Given the description of an element on the screen output the (x, y) to click on. 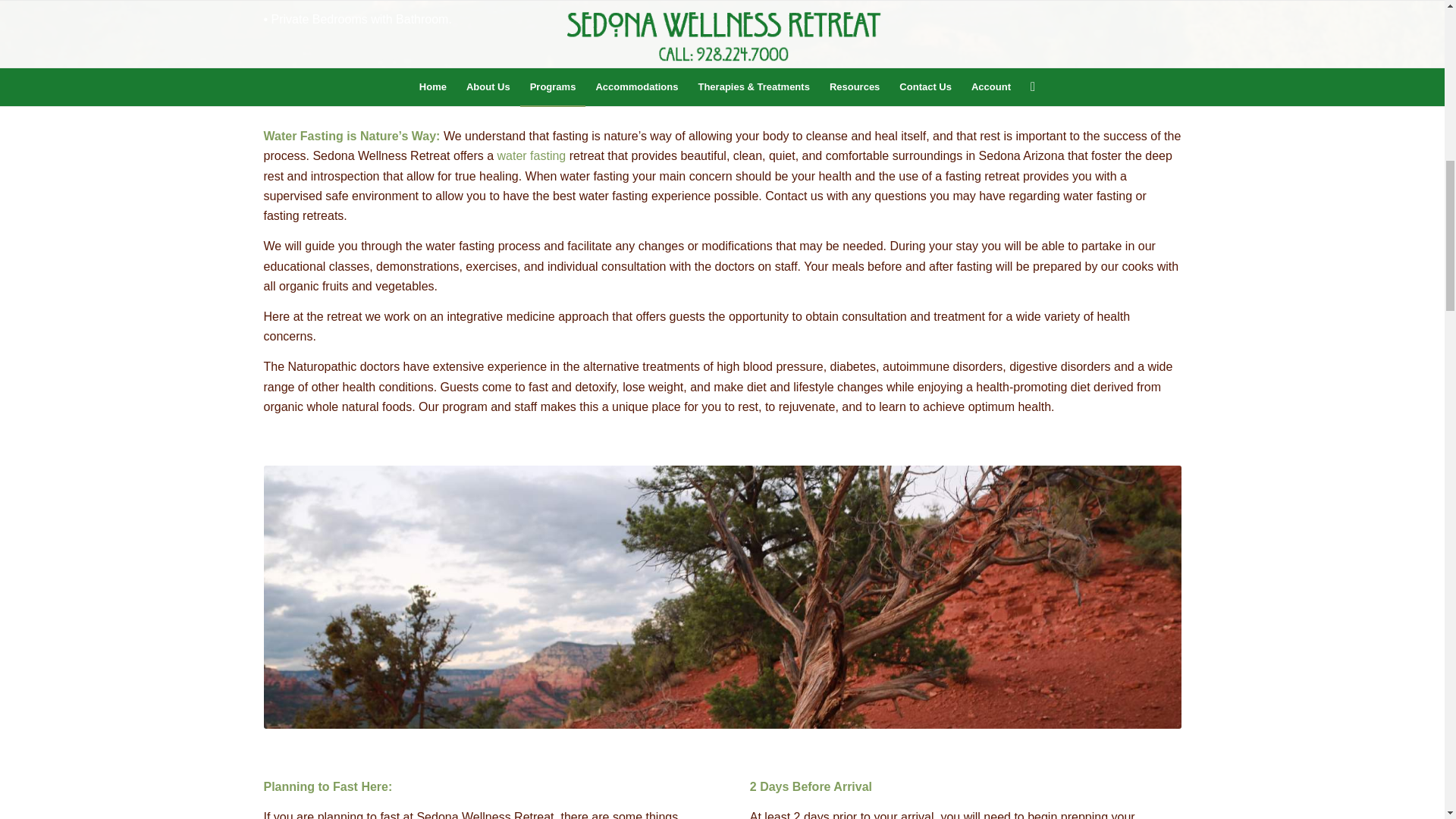
water fasting (531, 155)
